Given the description of an element on the screen output the (x, y) to click on. 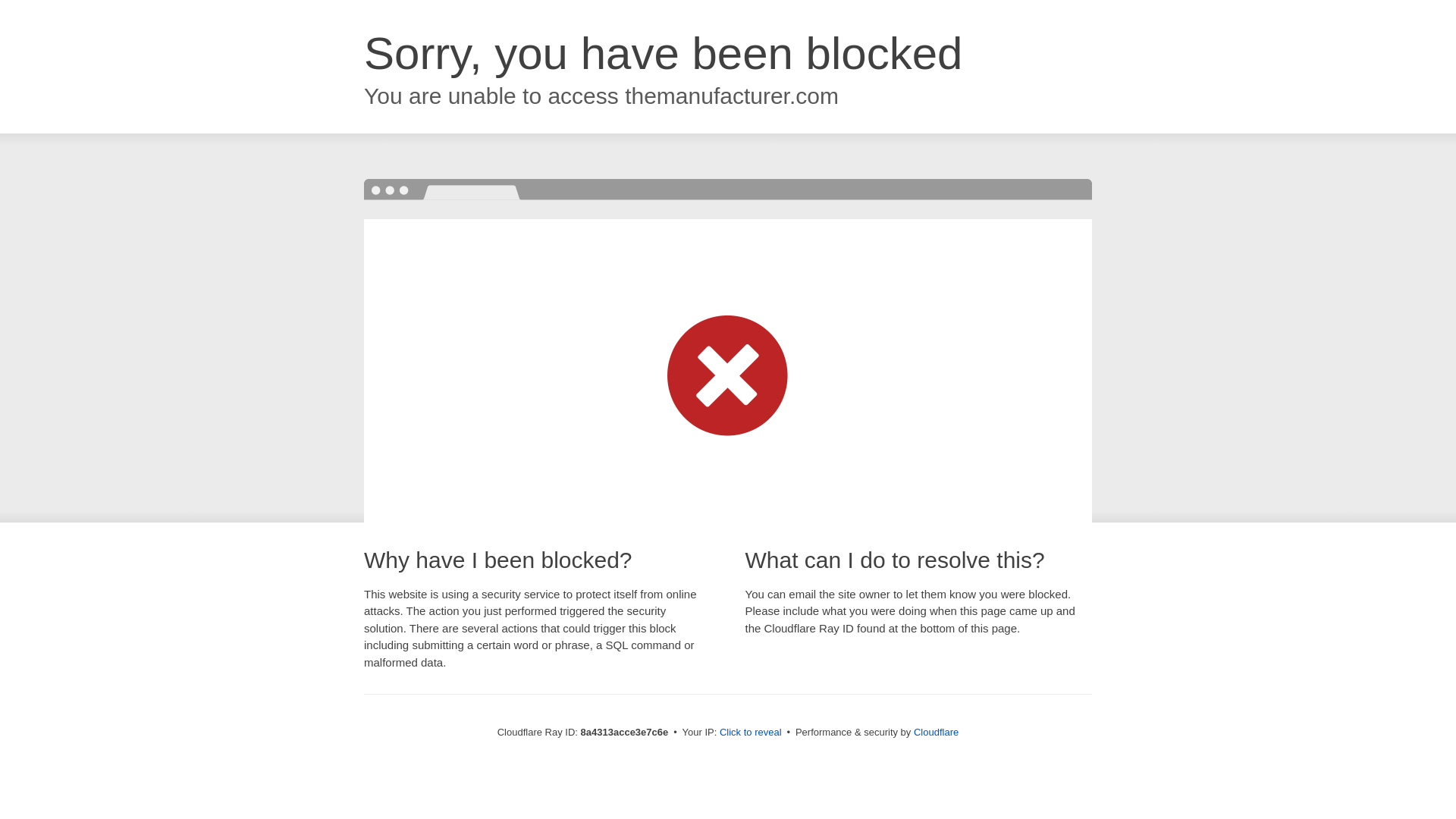
Click to reveal (750, 732)
Cloudflare (936, 731)
